Given the description of an element on the screen output the (x, y) to click on. 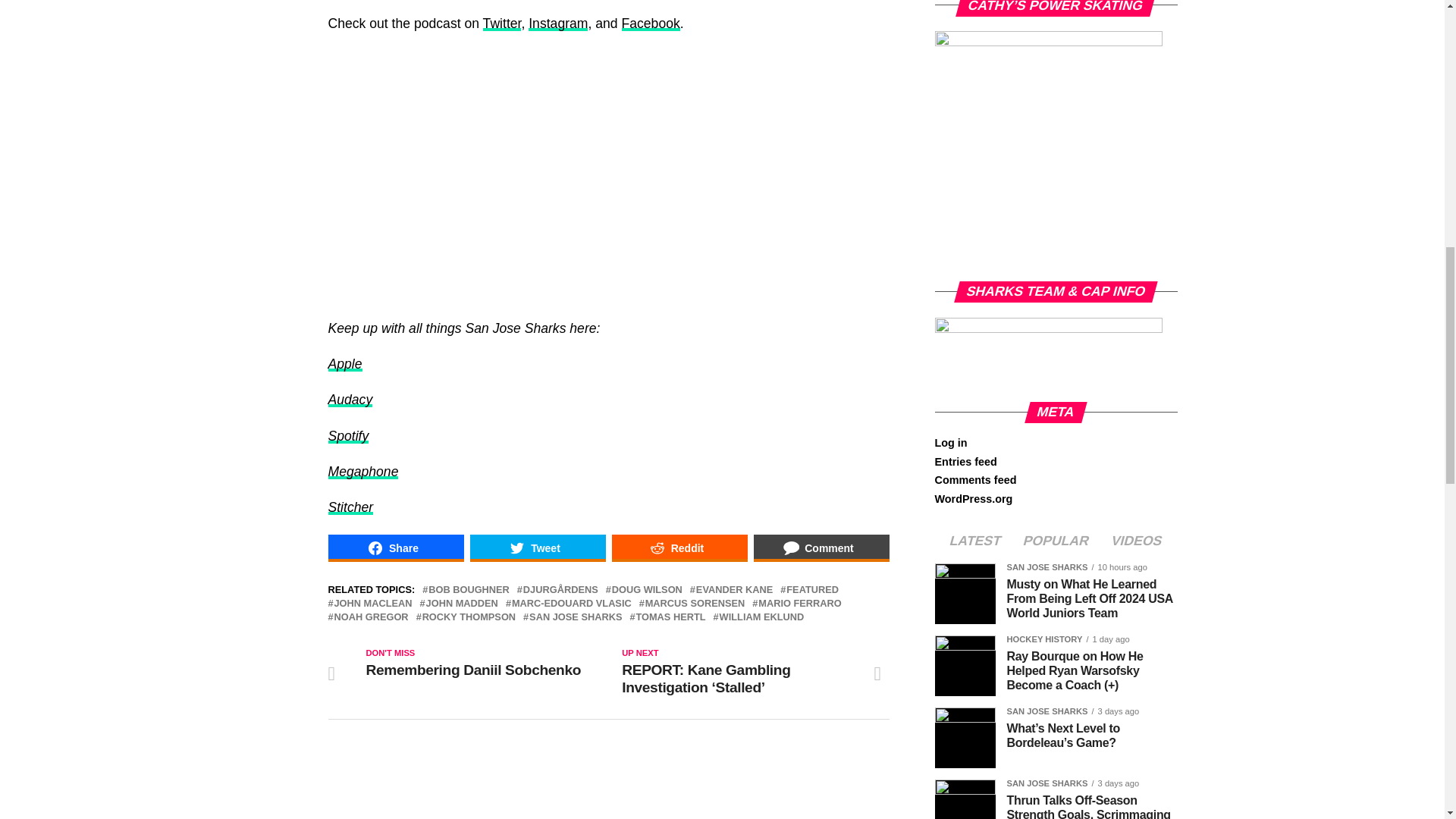
Share on Comment (821, 547)
Share on Share (395, 547)
Share on Tweet (537, 547)
Share on Reddit (678, 547)
